Given the description of an element on the screen output the (x, y) to click on. 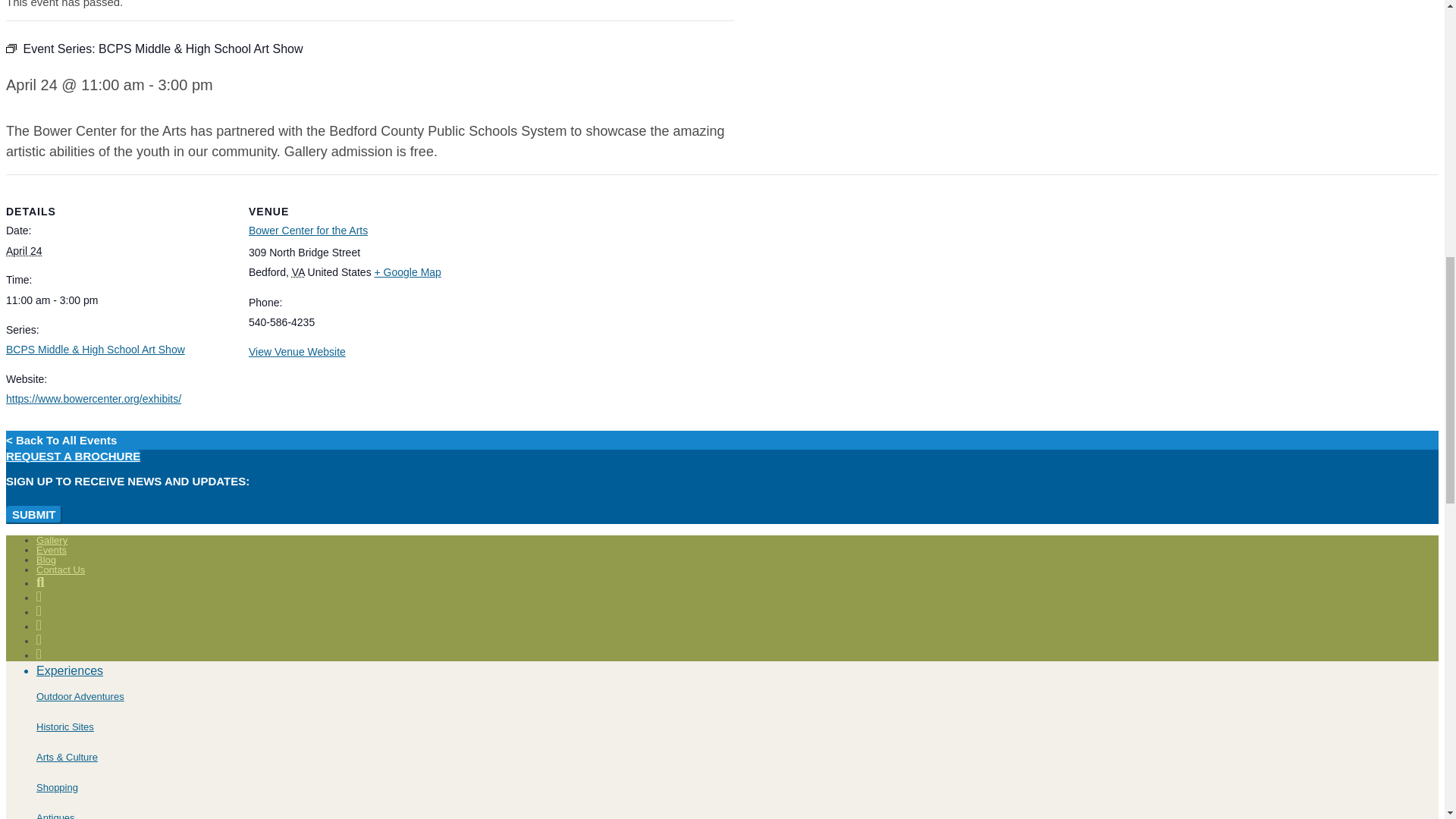
2024-04-24 (23, 250)
Virginia (298, 272)
Click to view a Google Map (407, 272)
Submit (33, 515)
2024-04-24 (117, 299)
